Given the description of an element on the screen output the (x, y) to click on. 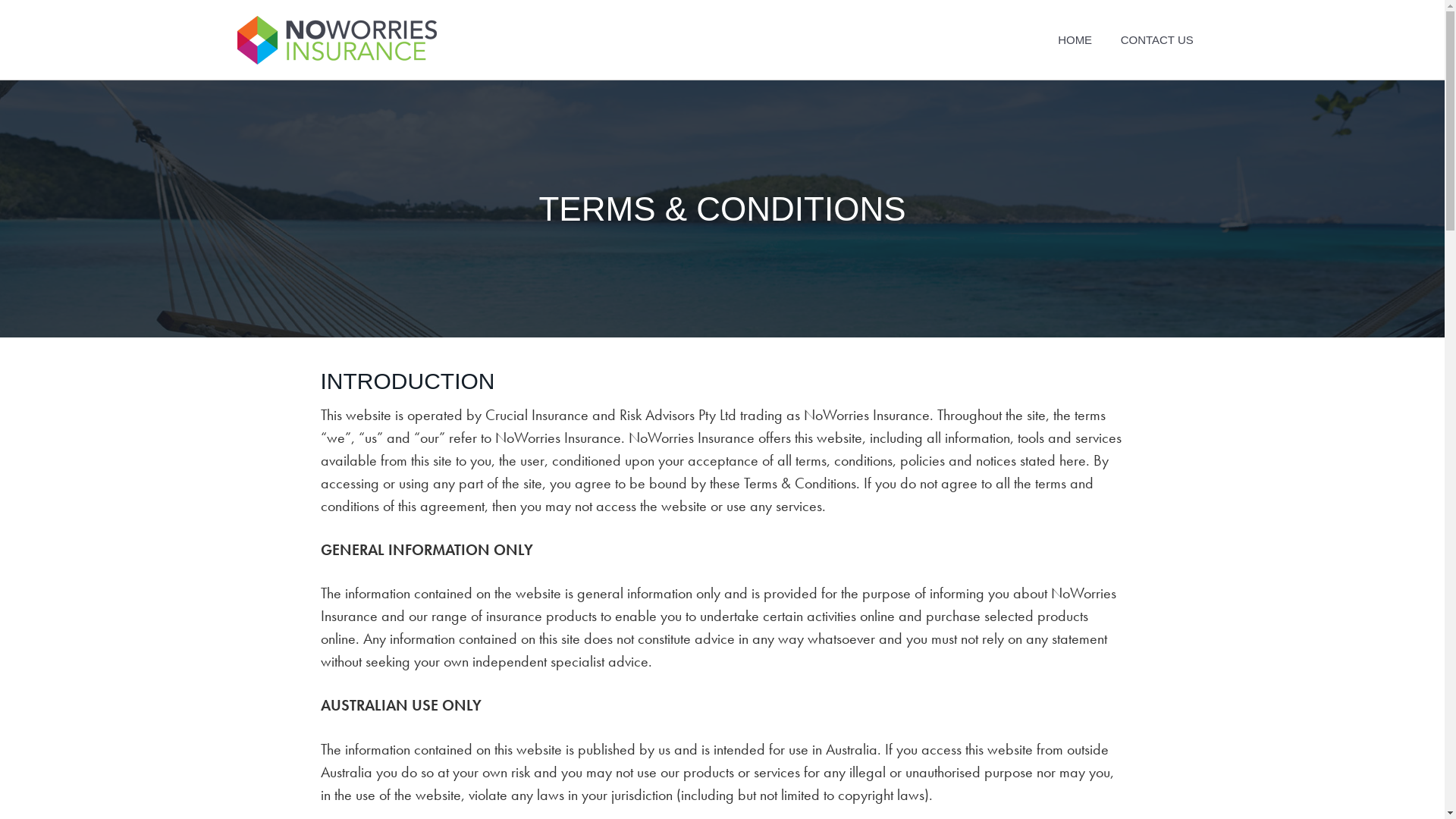
Skip to primary navigation Element type: text (0, 0)
HOME Element type: text (1074, 39)
NOWORRIES INSURANCE | LIVE MORE. WORRY LESS Element type: text (404, 81)
CONTACT US Element type: text (1157, 39)
